Given the description of an element on the screen output the (x, y) to click on. 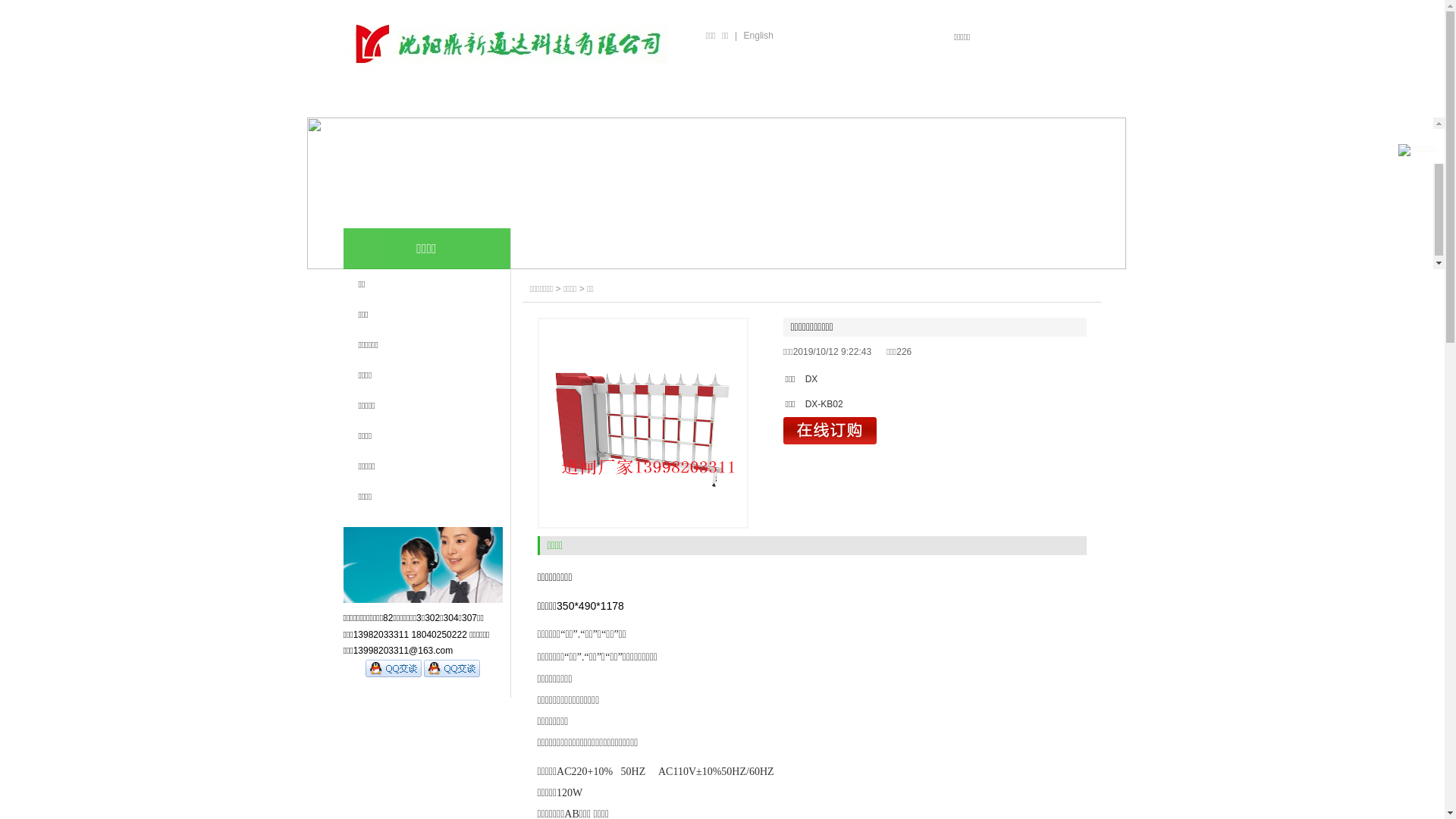
  Element type: text (1074, 37)
English Element type: text (758, 35)
